Given the description of an element on the screen output the (x, y) to click on. 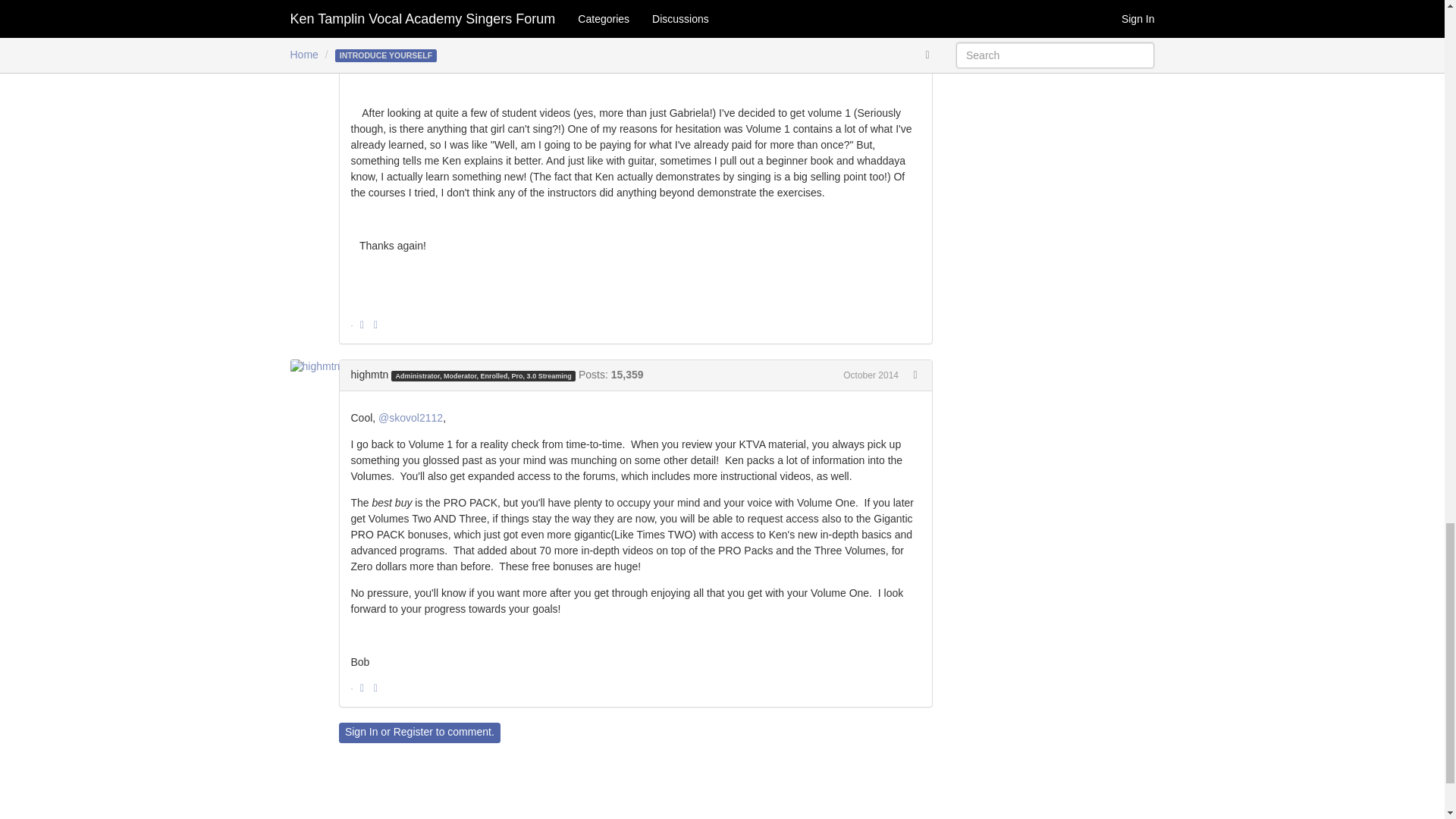
October 21, 2014 9:07PM (870, 375)
highmtn (319, 366)
